Given the description of an element on the screen output the (x, y) to click on. 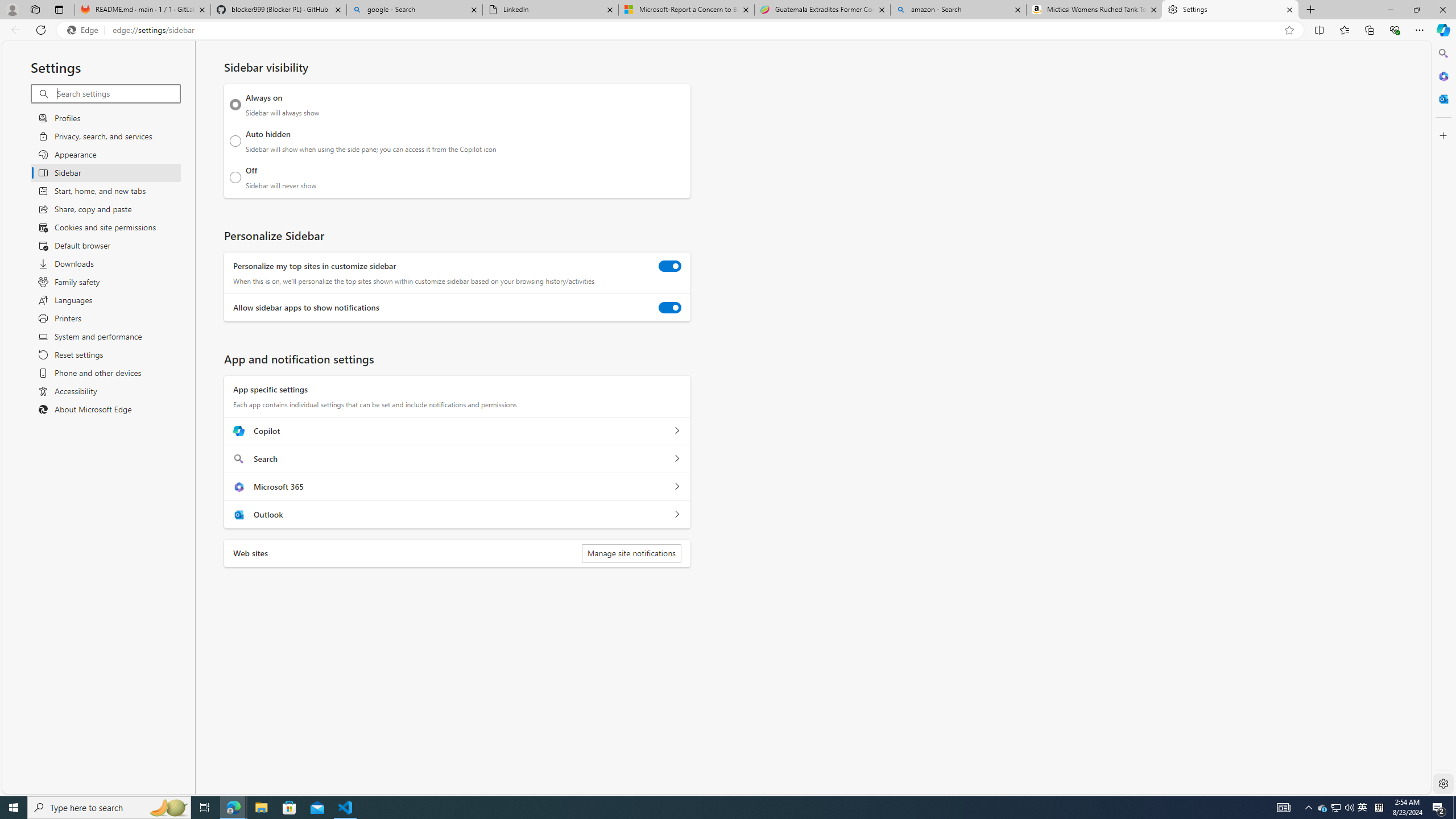
amazon - Search (957, 9)
Copilot (676, 430)
LinkedIn (550, 9)
google - Search (414, 9)
Edge (84, 29)
Search settings (117, 93)
